Given the description of an element on the screen output the (x, y) to click on. 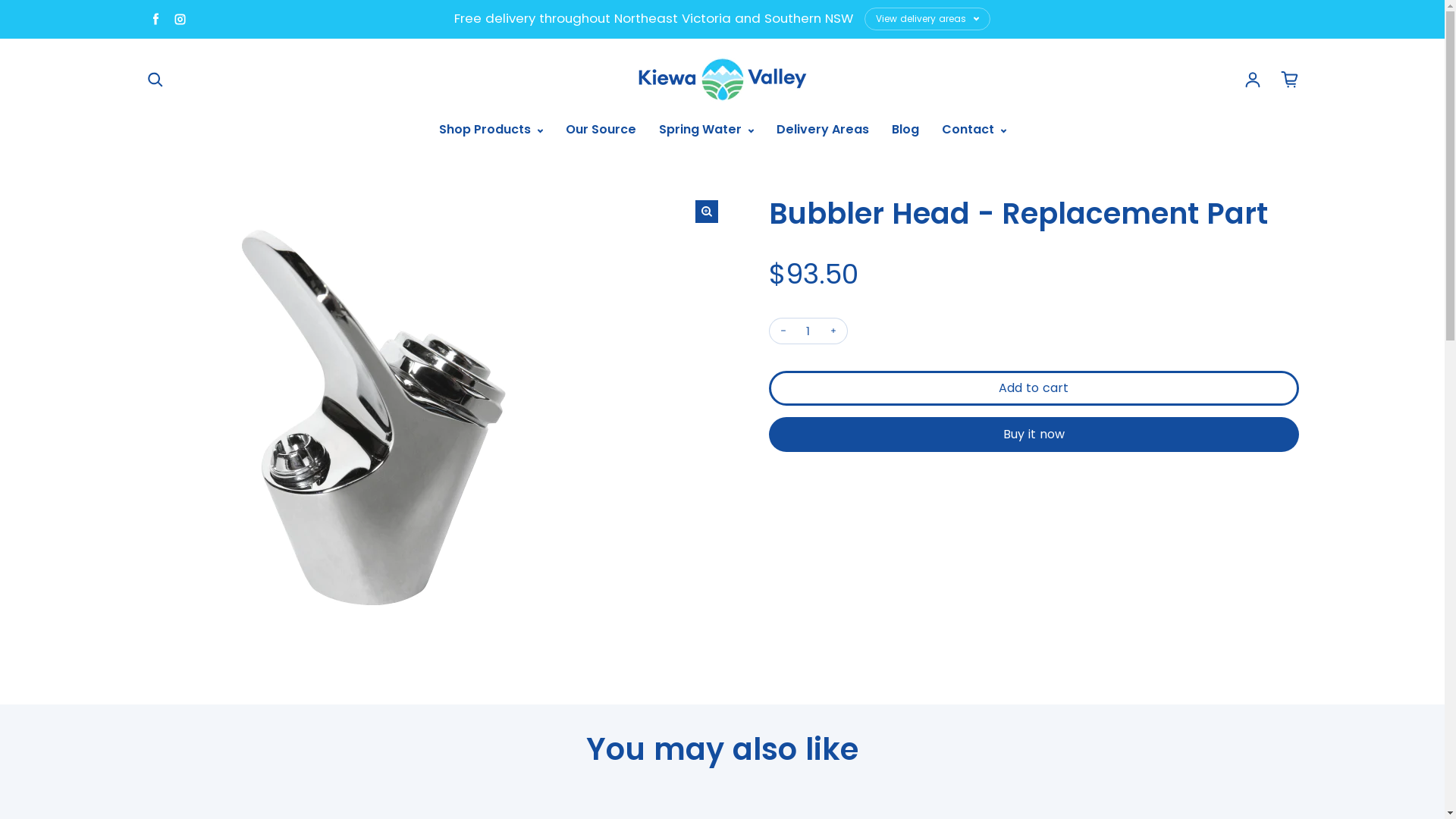
Our Source Element type: text (600, 129)
Buy it now Element type: text (1033, 434)
Delivery Areas Element type: text (822, 129)
Shop Products Element type: text (490, 129)
Contact Element type: text (973, 129)
Facebook Element type: text (154, 18)
Skip to content Element type: text (0, 0)
Instagram Element type: text (178, 18)
Increase quantity for Bubbler Head - Replacement Part Element type: text (832, 330)
Decrease quantity for Bubbler Head - Replacement Part Element type: text (782, 330)
View delivery areas Element type: text (927, 18)
Add to cart Element type: text (1033, 387)
Log in Element type: text (1252, 79)
Spring Water Element type: text (705, 129)
Blog Element type: text (905, 129)
